Given the description of an element on the screen output the (x, y) to click on. 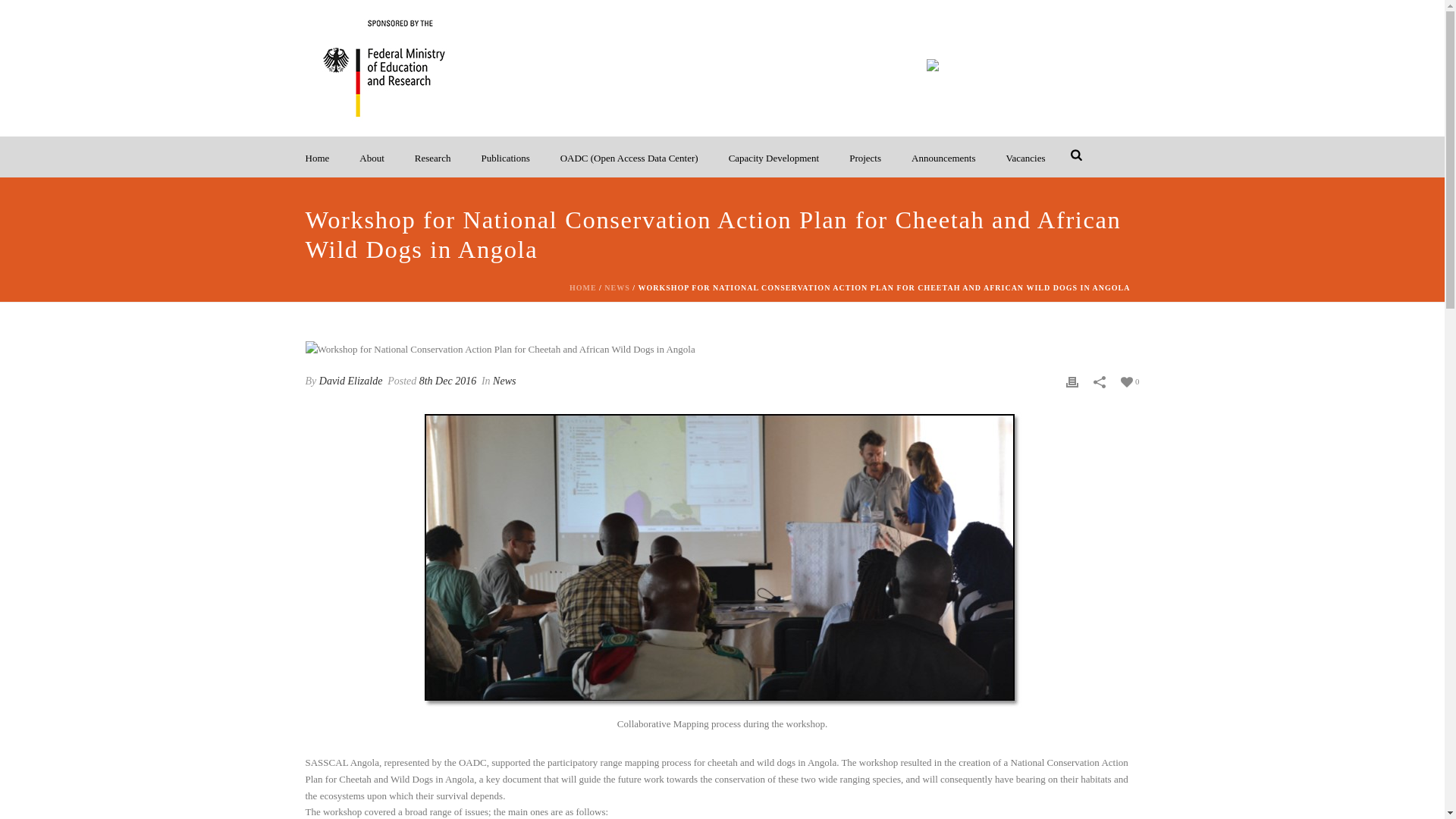
Vacancies (1026, 156)
About (370, 156)
Home (316, 156)
Capacity Development (773, 156)
Publications (504, 156)
Research (431, 156)
Research (431, 156)
Projects (865, 156)
Announcements (943, 156)
Home (316, 156)
Capacity Development (773, 156)
Posts by David Elizalde (350, 380)
